Given the description of an element on the screen output the (x, y) to click on. 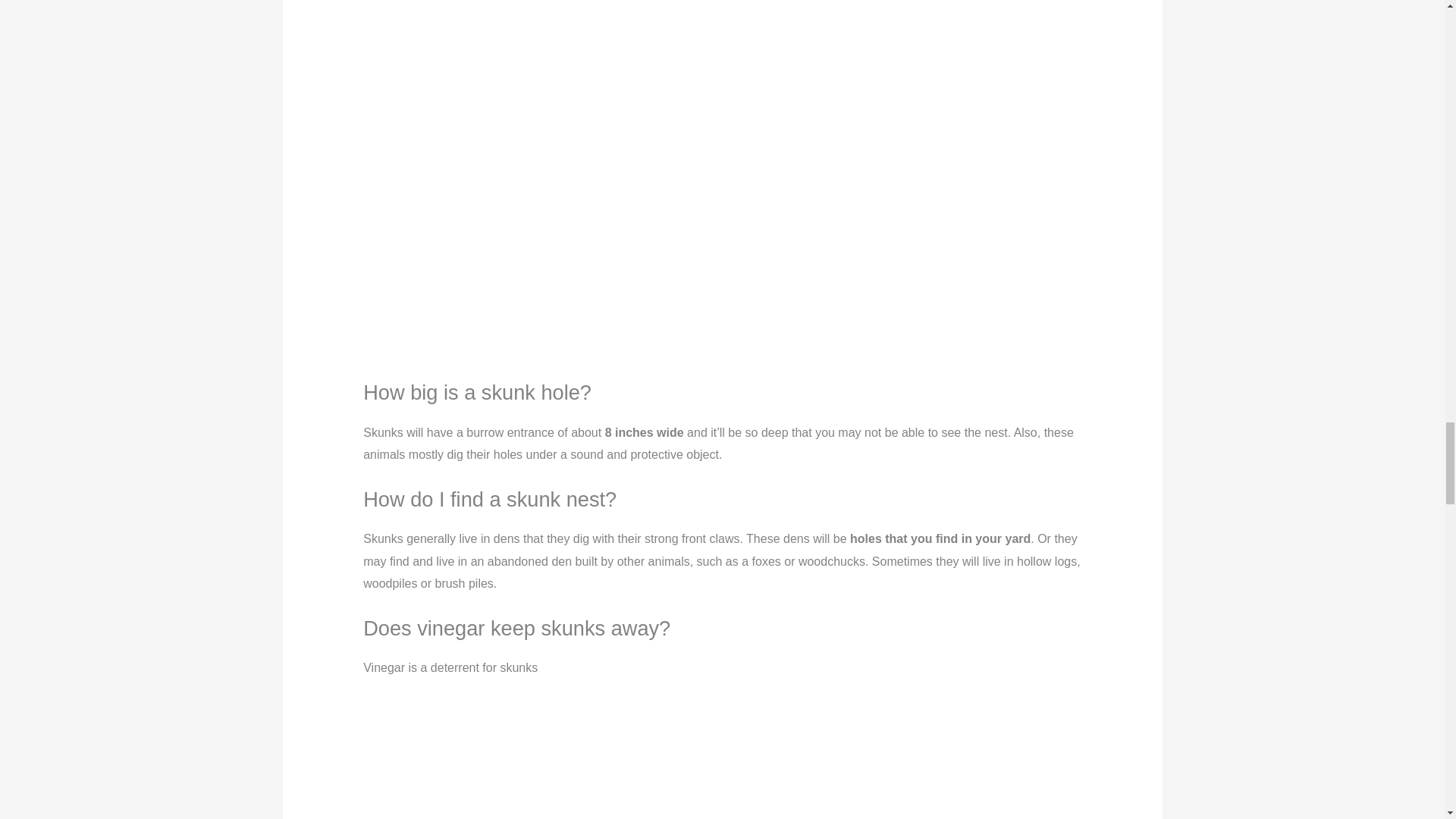
Vinegar is a deterrent for skunks (721, 758)
